Given the description of an element on the screen output the (x, y) to click on. 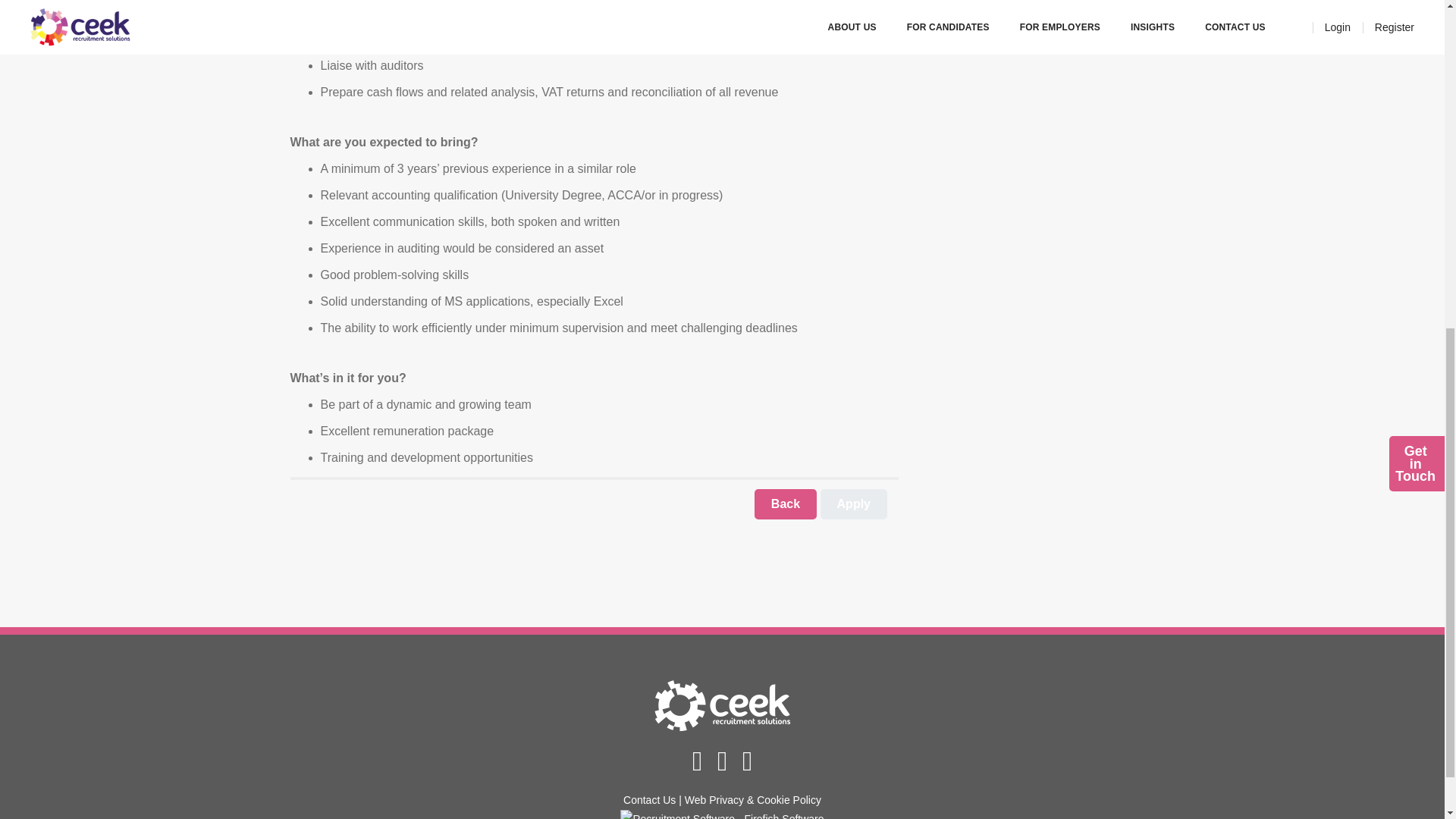
Back (785, 503)
Apply (853, 503)
Contact Us (649, 799)
Back (785, 503)
